Given the description of an element on the screen output the (x, y) to click on. 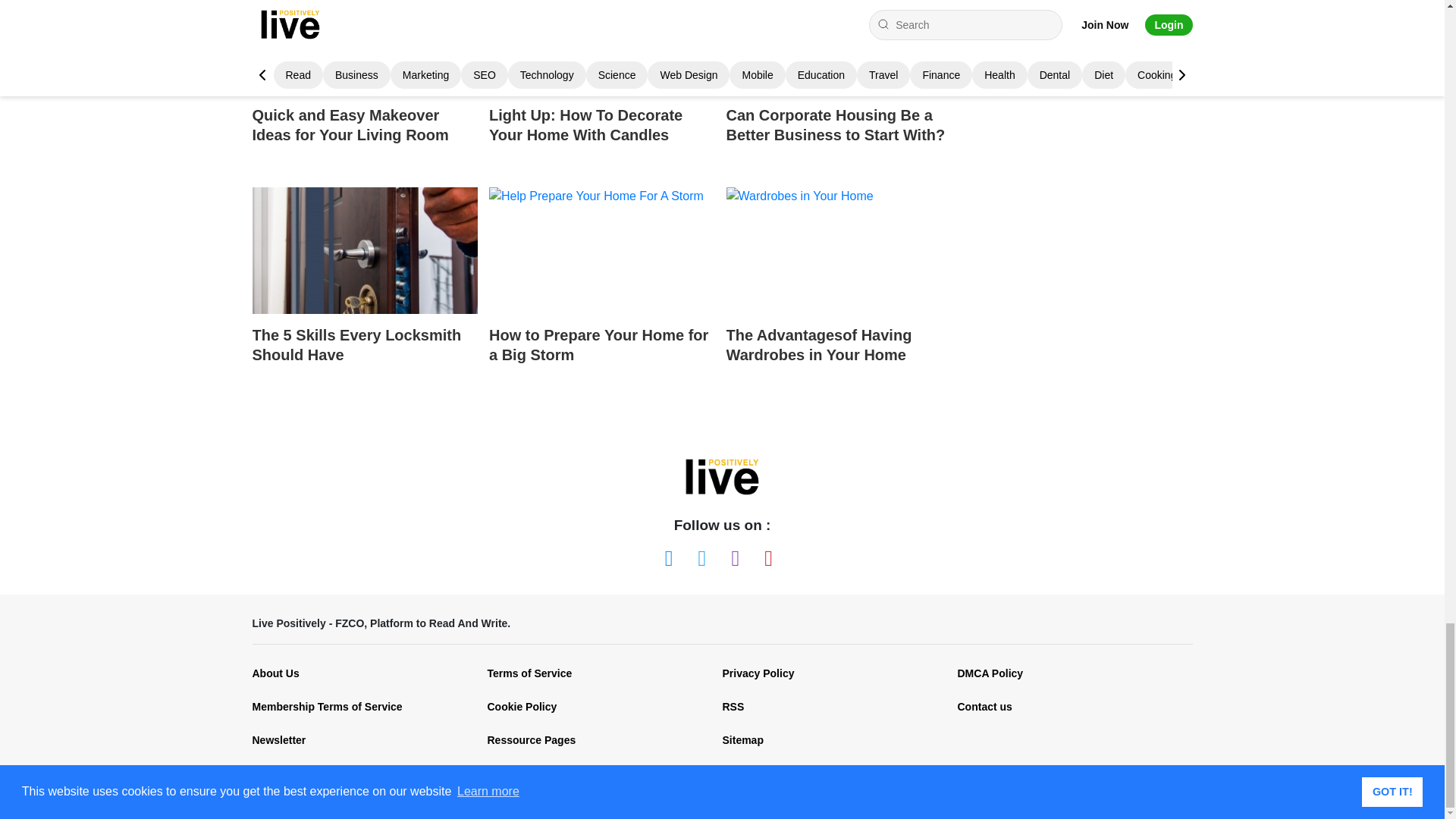
The Advantagesof Having Wardrobes in Your Home (839, 289)
Quick and Easy Makeover Ideas for Your Living Room (364, 47)
Light Up: How To Decorate Your Home With Candles (601, 47)
Wardrobes in Your Home (839, 250)
Can Corporate Housing Be a Better Business to Start With? (839, 85)
The 5 Skills Every Locksmith Should Have (364, 289)
Quick and Easy Makeover Ideas for Your Living Room (364, 85)
Light Up: How To Decorate Your Home With Candles (601, 85)
How to Prepare Your Home for a Big Storm (601, 289)
Short term apartments (839, 47)
Skills Every Locksmith Should Have (364, 250)
Help Prepare Your Home For A Storm (601, 250)
